Given the description of an element on the screen output the (x, y) to click on. 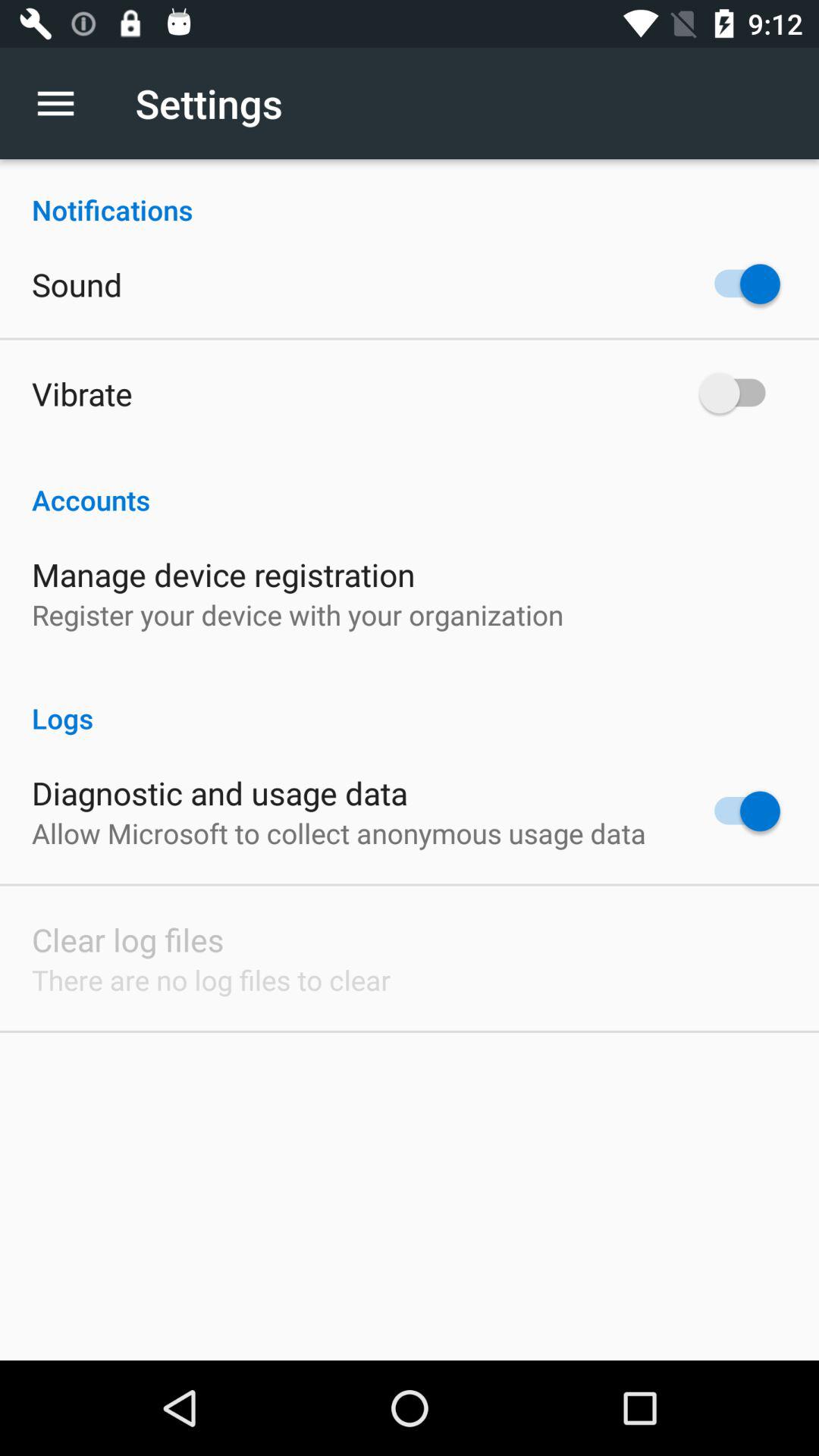
tap allow microsoft to app (338, 832)
